Given the description of an element on the screen output the (x, y) to click on. 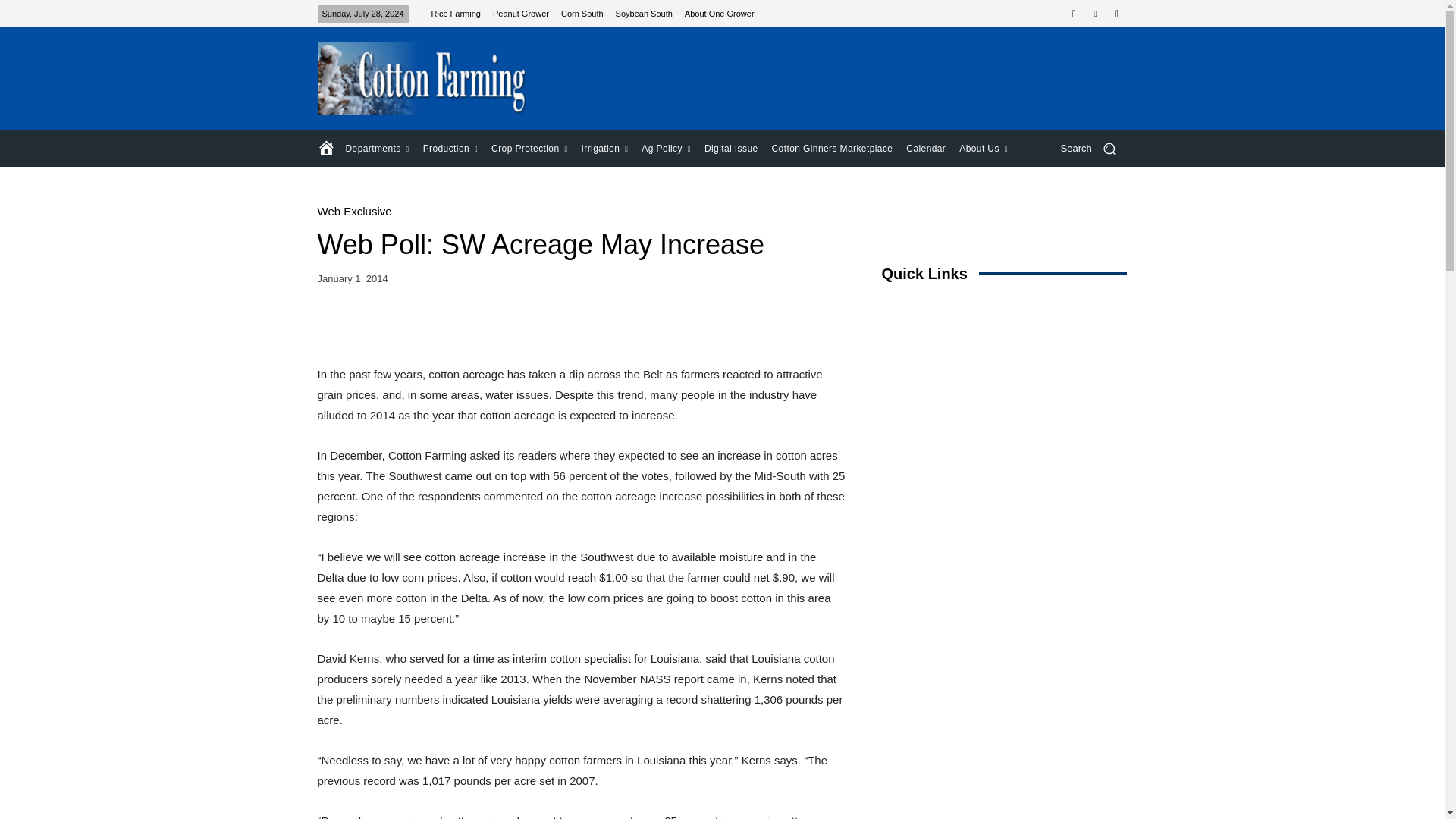
Cotton Farming Header Logo (425, 78)
Rss (1115, 13)
Twitter (1094, 13)
Facebook (1073, 13)
